Given the description of an element on the screen output the (x, y) to click on. 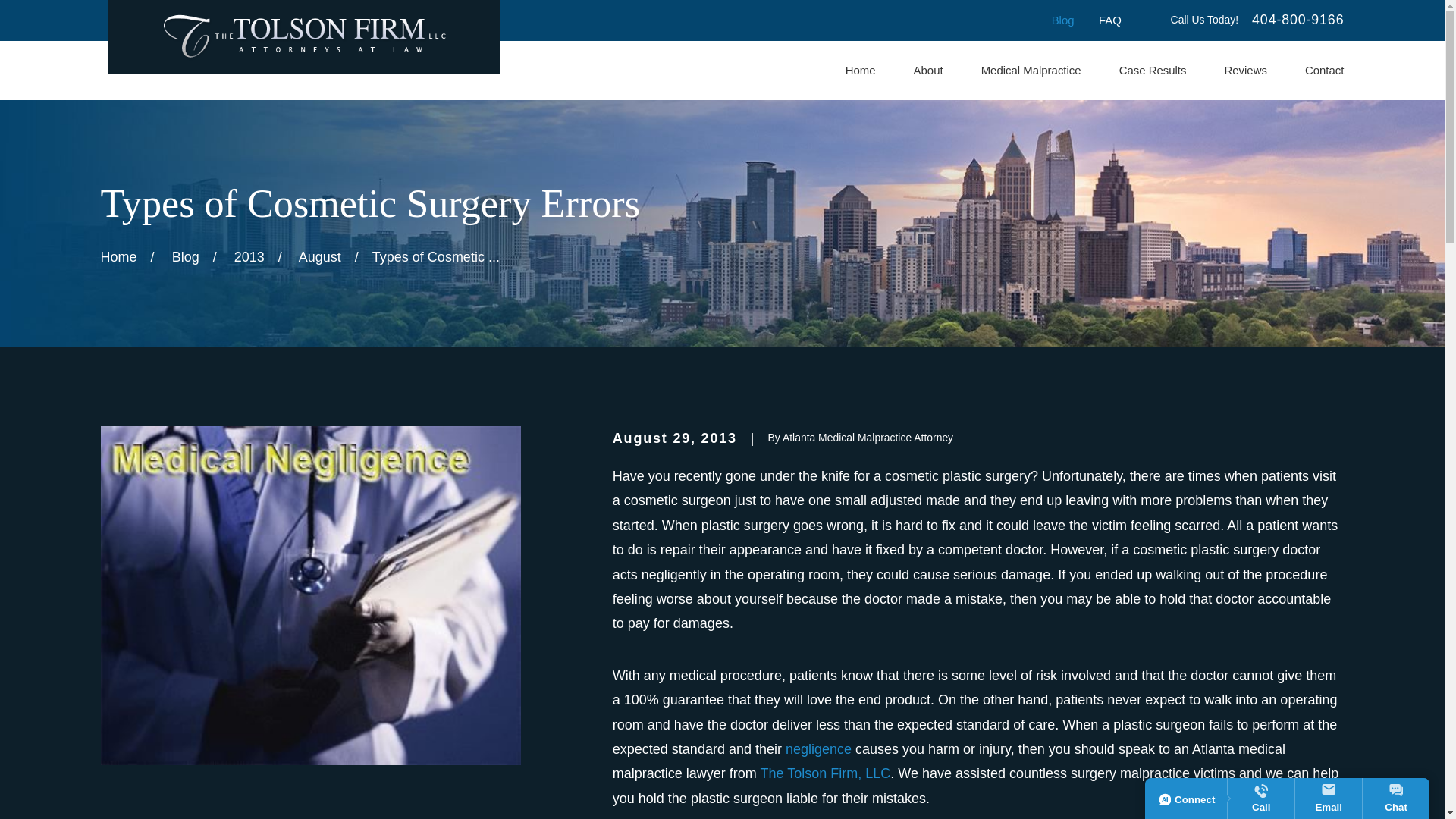
FAQ (1110, 19)
Medical Malpractice (1031, 70)
404-800-9166 (1297, 20)
Go Home (118, 256)
Blog (1062, 19)
Home (303, 36)
About (928, 70)
Home (860, 70)
